Given the description of an element on the screen output the (x, y) to click on. 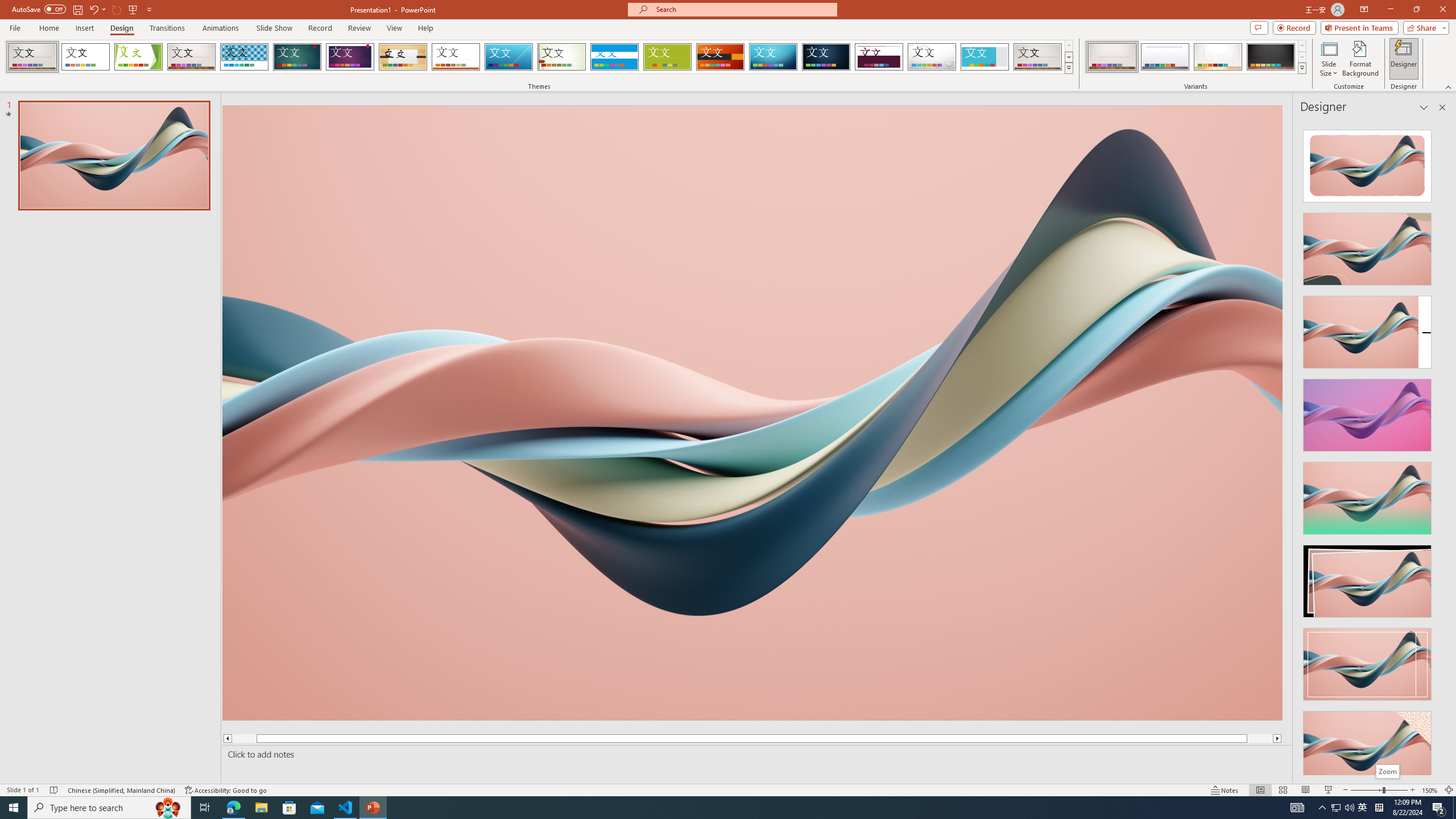
AutomationID: SlideThemesGallery (539, 56)
Variants (1301, 67)
Zoom 150% (1430, 790)
